Given the description of an element on the screen output the (x, y) to click on. 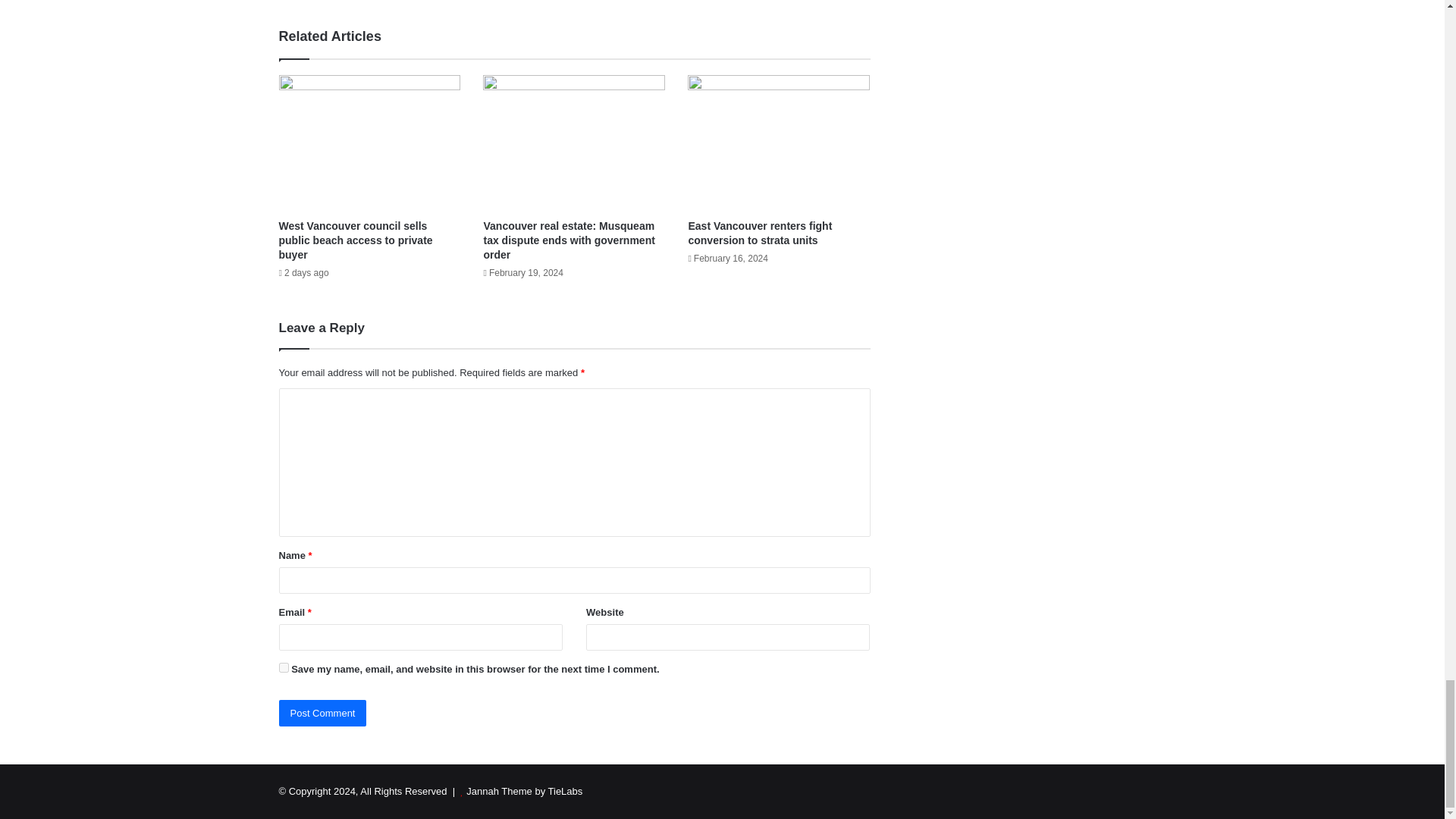
Post Comment (322, 713)
yes (283, 667)
